Given the description of an element on the screen output the (x, y) to click on. 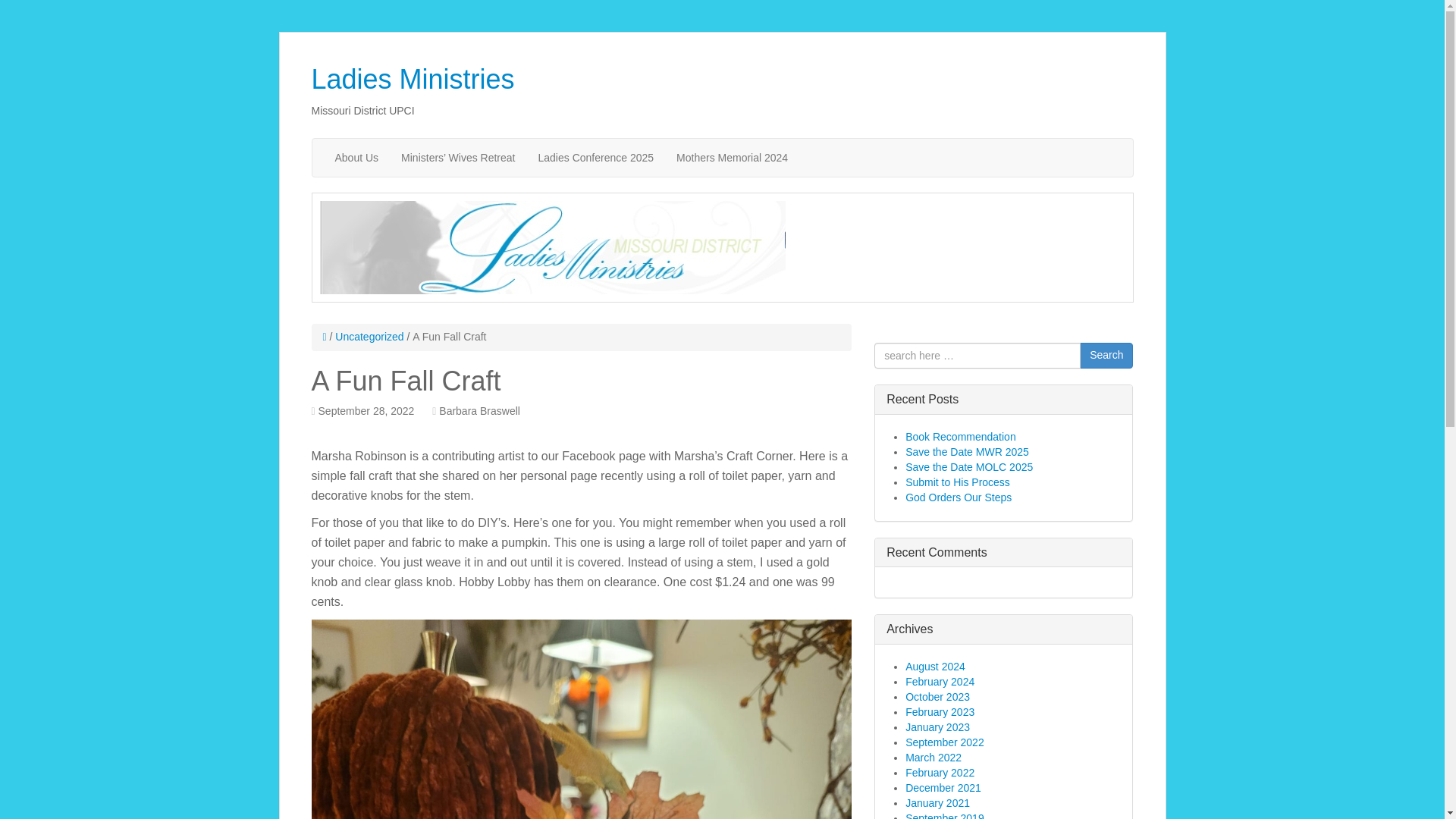
About Us (356, 157)
February 2023 (939, 711)
January 2021 (937, 802)
Ladies Ministries (412, 79)
September 28, 2022 (366, 410)
October 2023 (937, 696)
Book Recommendation (960, 436)
January 2023 (937, 727)
August 2024 (935, 666)
Save the Date MOLC 2025 (968, 467)
